Given the description of an element on the screen output the (x, y) to click on. 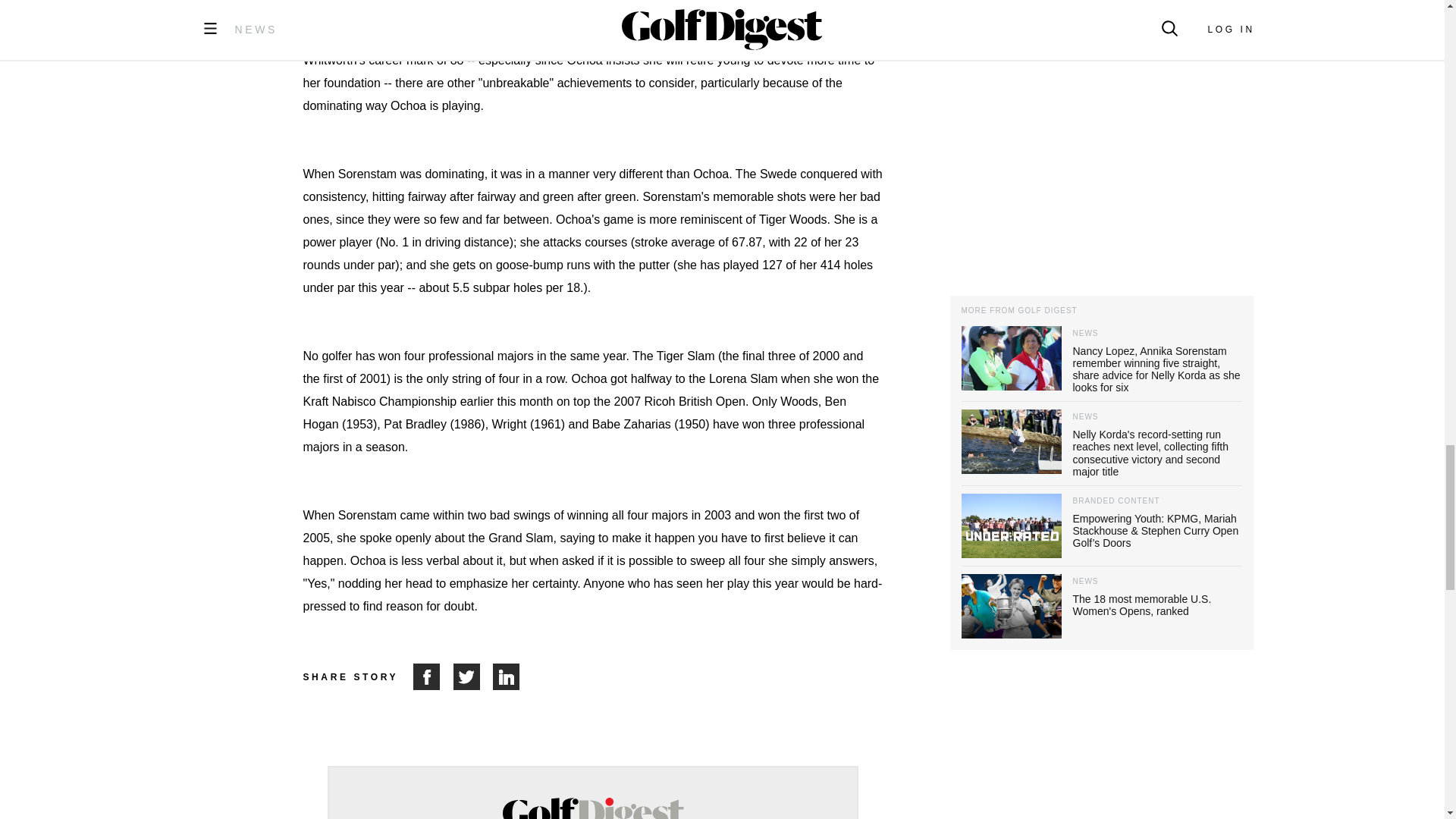
Share on Facebook (432, 676)
Share on Twitter (472, 676)
Share on LinkedIn (506, 676)
